Given the description of an element on the screen output the (x, y) to click on. 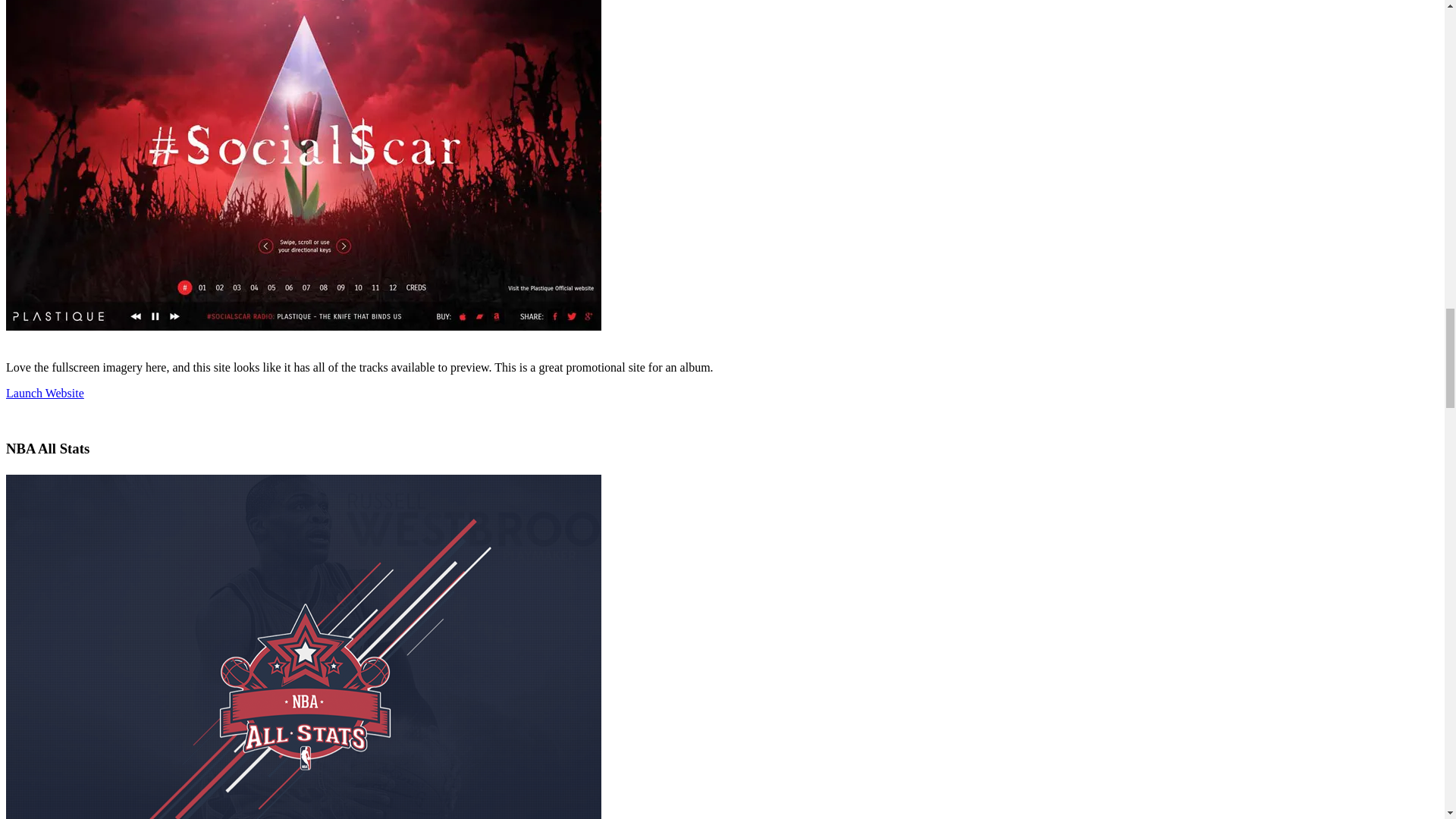
Launch Website (44, 392)
